Given the description of an element on the screen output the (x, y) to click on. 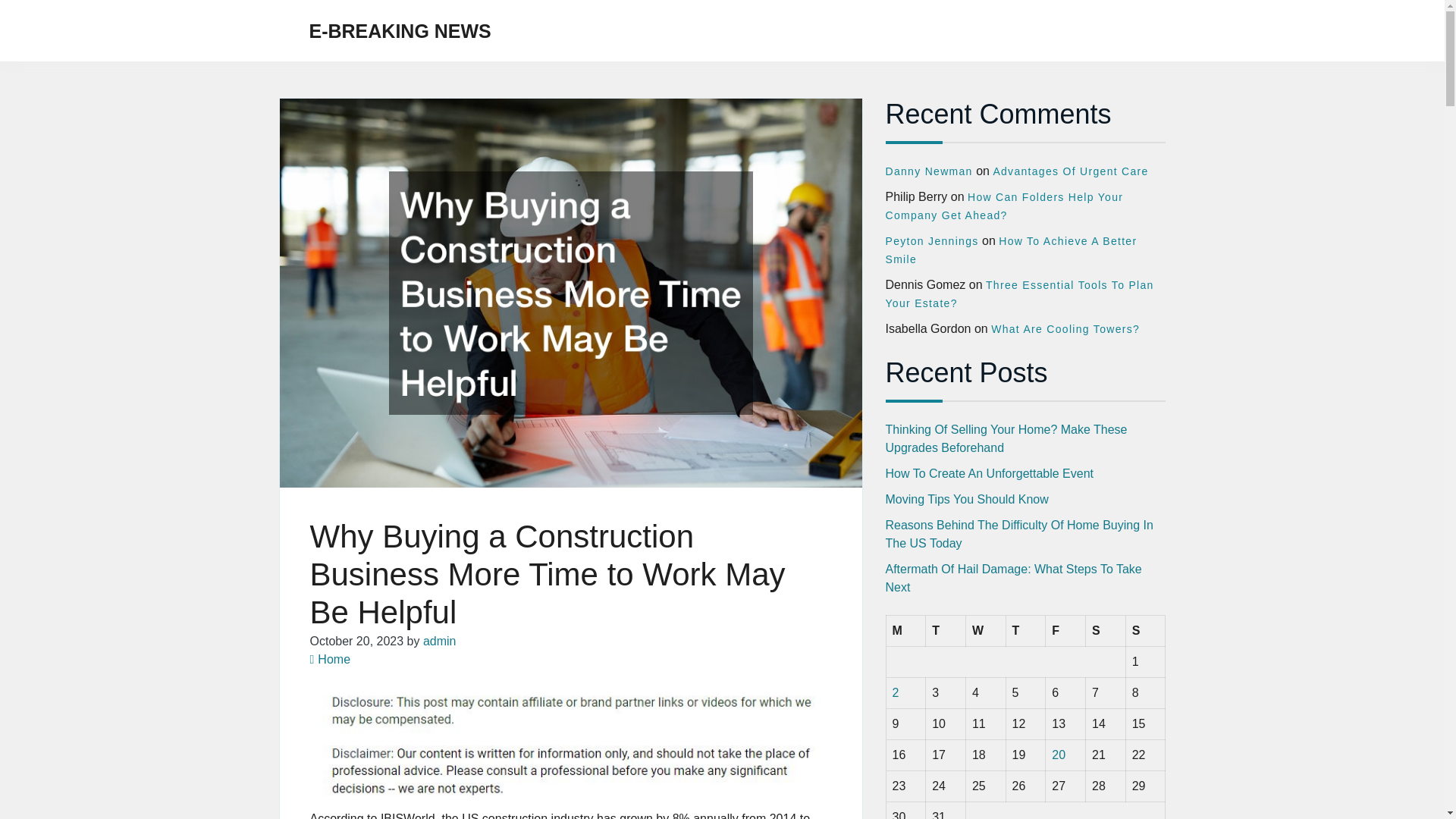
admin (440, 640)
Moving Tips You Should Know (966, 499)
Sunday (1145, 631)
Aftermath Of Hail Damage: What Steps To Take Next (1013, 577)
How To Create An Unforgettable Event (989, 472)
Advantages Of Urgent Care (1070, 171)
Saturday (1105, 631)
Wednesday (985, 631)
Friday (1065, 631)
Three Essential Tools To Plan Your Estate? (1019, 294)
E-BREAKING NEWS (400, 29)
2 (894, 692)
Danny Newman (928, 171)
Tuesday (946, 631)
Monday (905, 631)
